Given the description of an element on the screen output the (x, y) to click on. 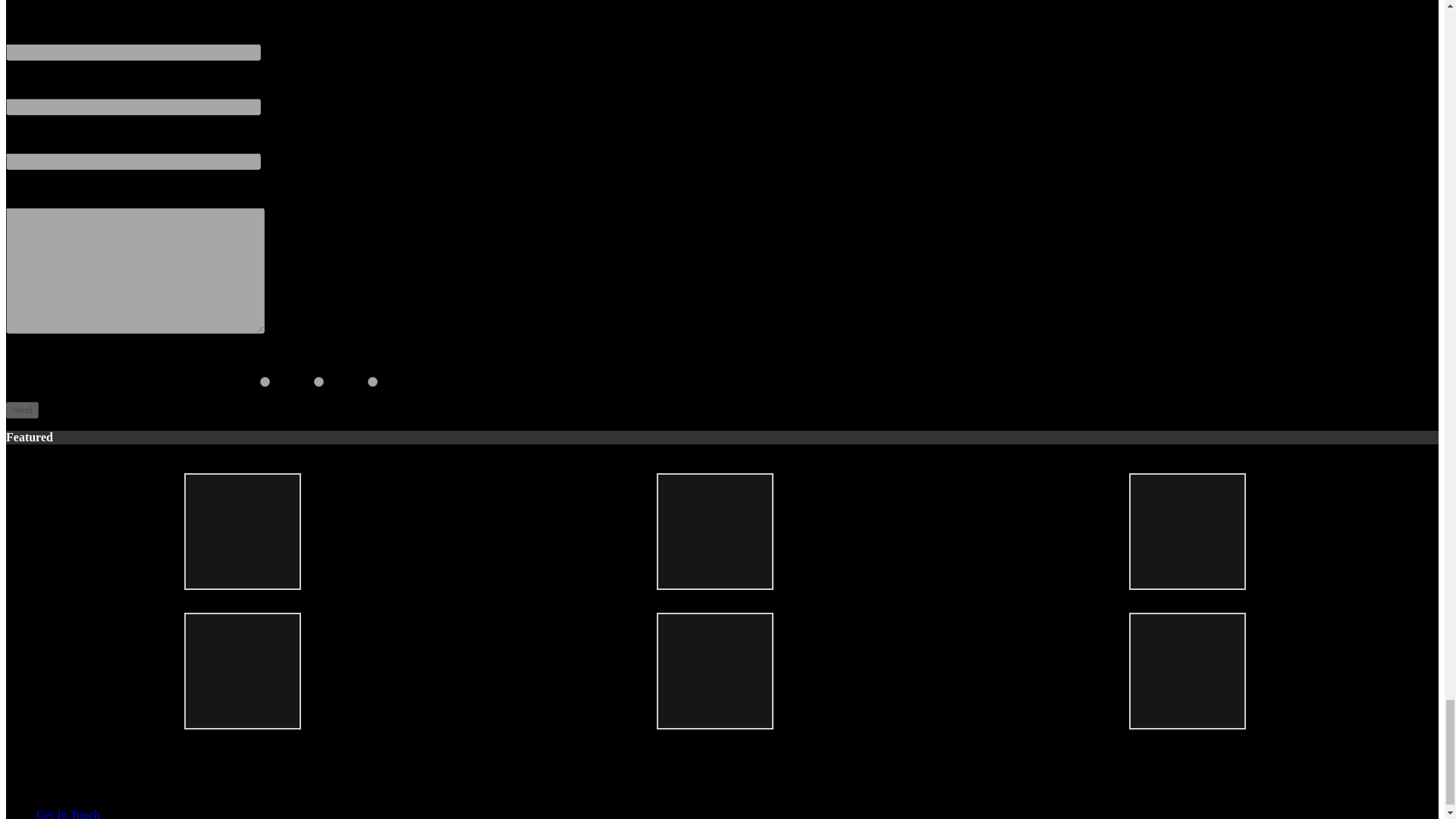
Send (22, 410)
bot (372, 381)
bot (318, 381)
